Given the description of an element on the screen output the (x, y) to click on. 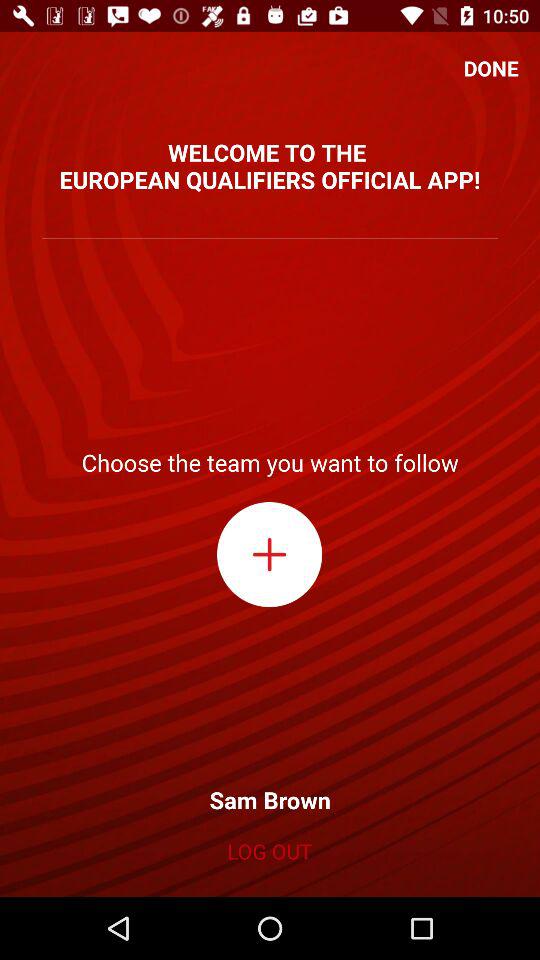
scroll until log out (269, 851)
